Given the description of an element on the screen output the (x, y) to click on. 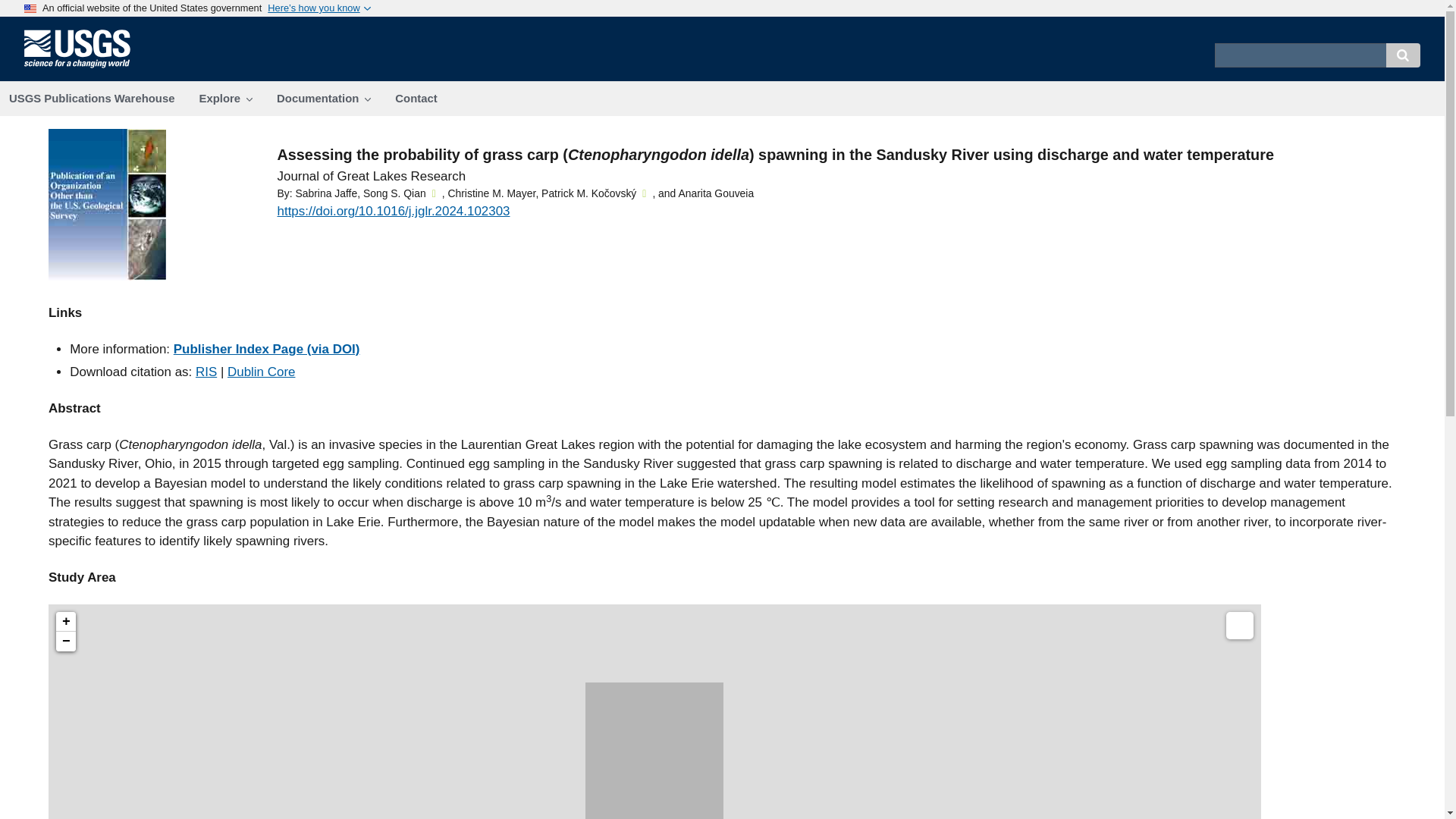
Zoom in (65, 621)
Home (83, 66)
 Index Page (266, 349)
Documentation (323, 98)
Dublin Core (261, 371)
Layers (1239, 625)
USGS Publications Warehouse (93, 98)
RIS (205, 371)
Explore (225, 98)
Contact (415, 98)
Zoom out (65, 641)
